Given the description of an element on the screen output the (x, y) to click on. 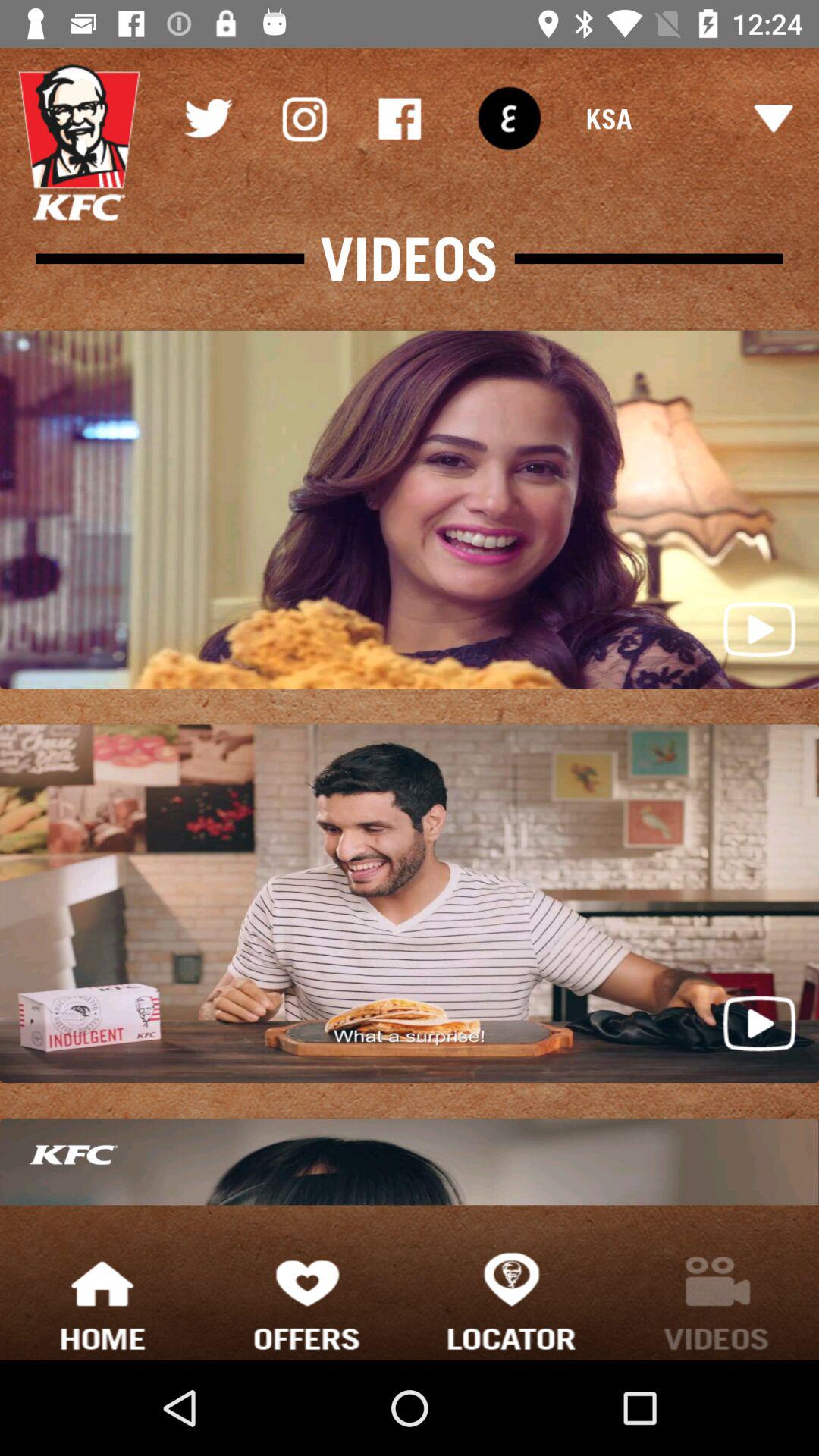
click icon at the bottom left corner (102, 1300)
